Given the description of an element on the screen output the (x, y) to click on. 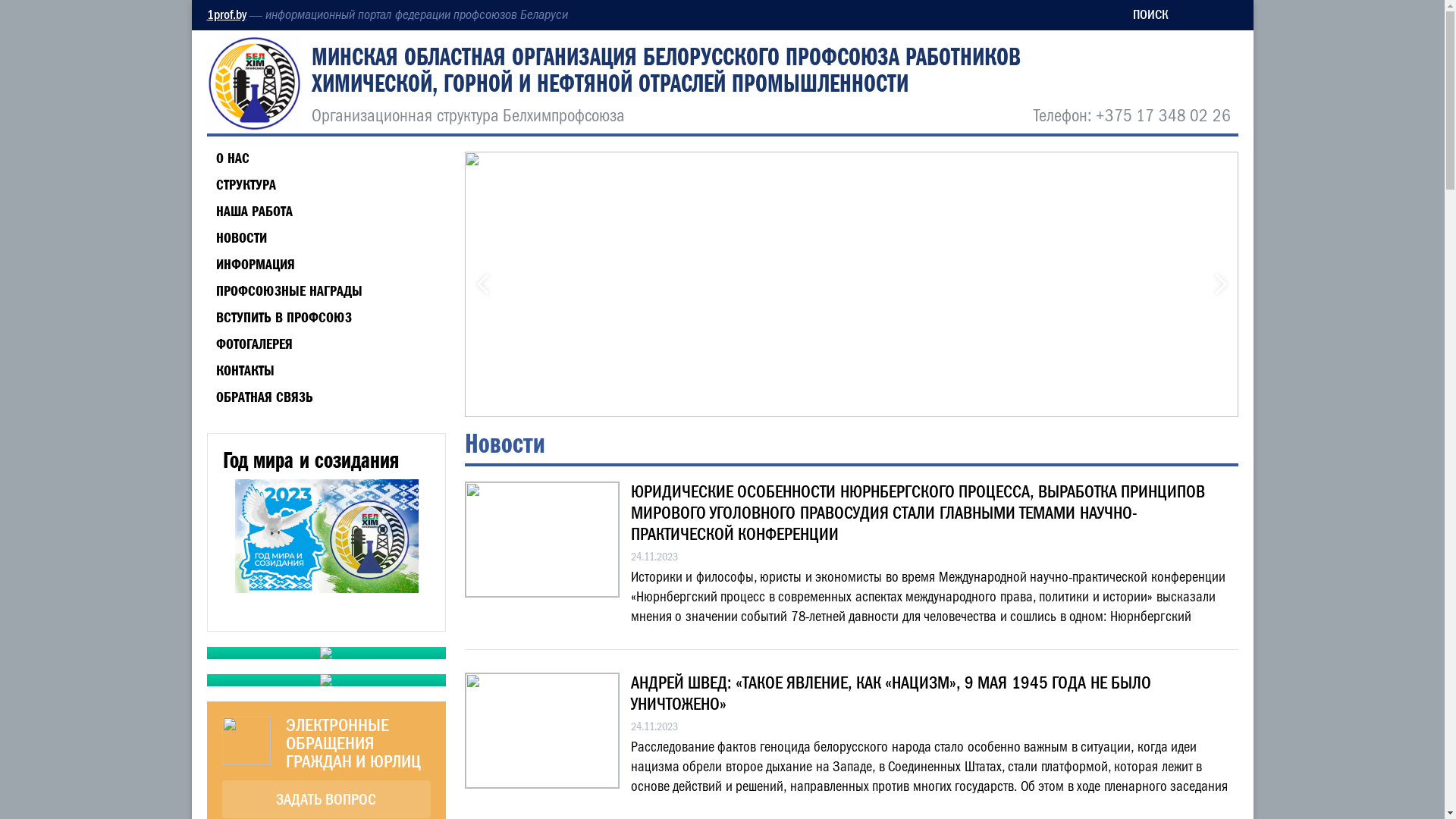
1prof.by Element type: text (225, 14)
